Given the description of an element on the screen output the (x, y) to click on. 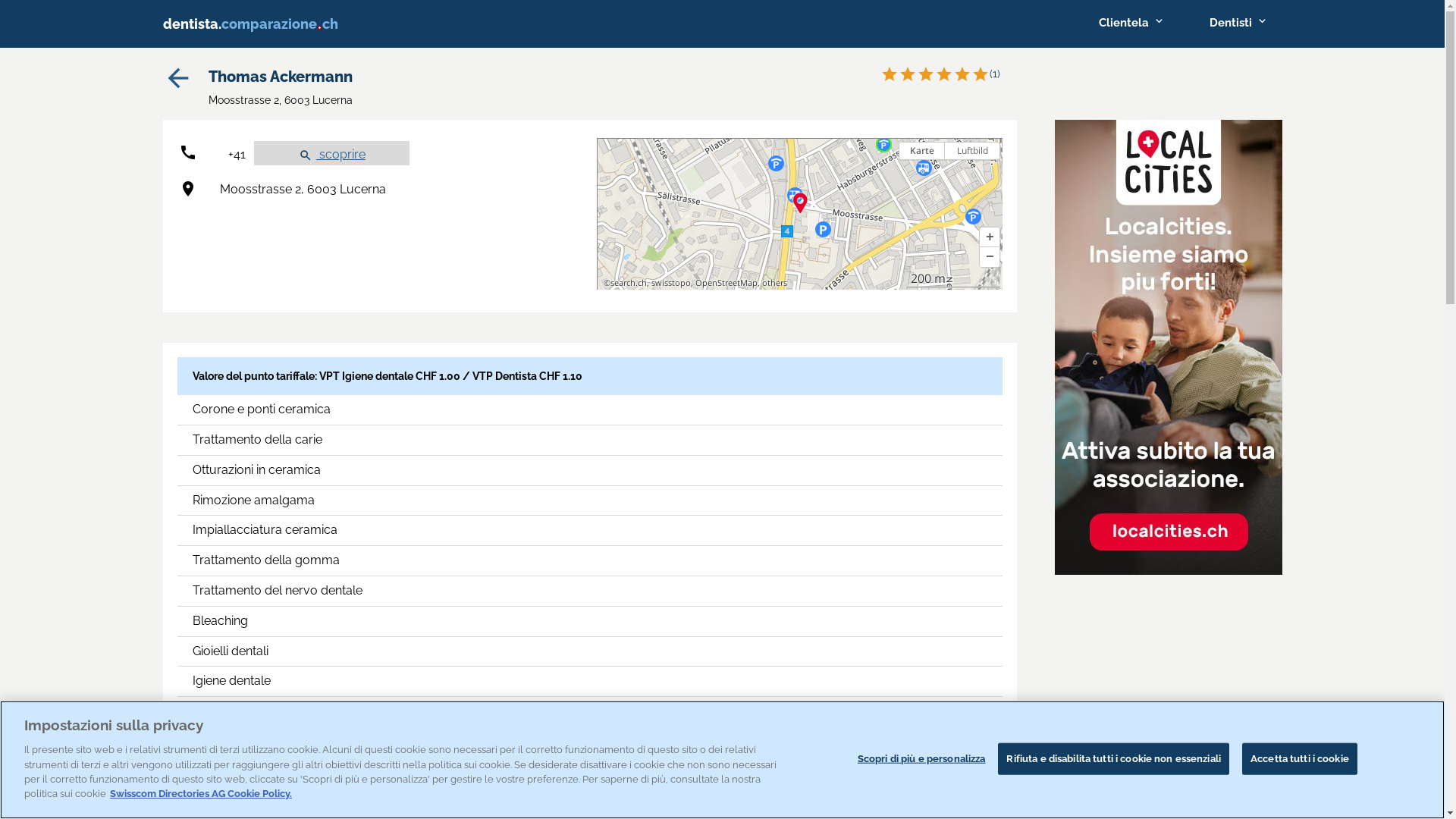
Swisscom Directories AG Cookie Policy. Element type: text (200, 793)
1 Visualizza valutazioni Element type: hover (941, 73)
map Element type: hover (798, 213)
dentista.comparazione
ch Element type: text (260, 23)
Dentisti
expand_more Element type: text (1237, 22)
Rifiuta e disabilita tutti i cookie non essenziali Element type: text (1113, 759)
Accetta tutti i cookie Element type: text (1299, 759)
arrow_back Element type: text (177, 88)
Clientela
expand_more Element type: text (1130, 22)
